Given the description of an element on the screen output the (x, y) to click on. 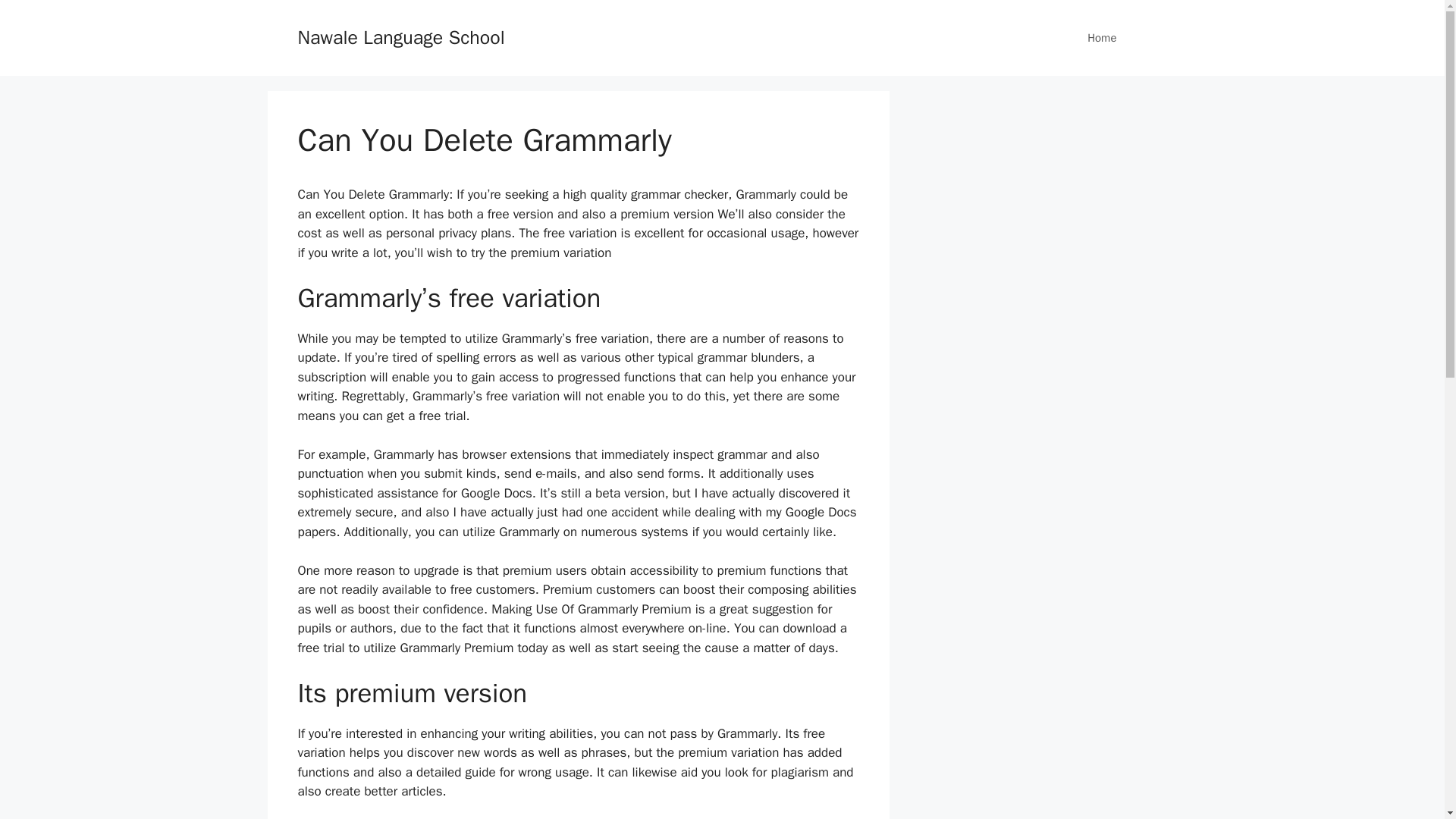
Nawale Language School (400, 37)
Home (1101, 37)
